Given the description of an element on the screen output the (x, y) to click on. 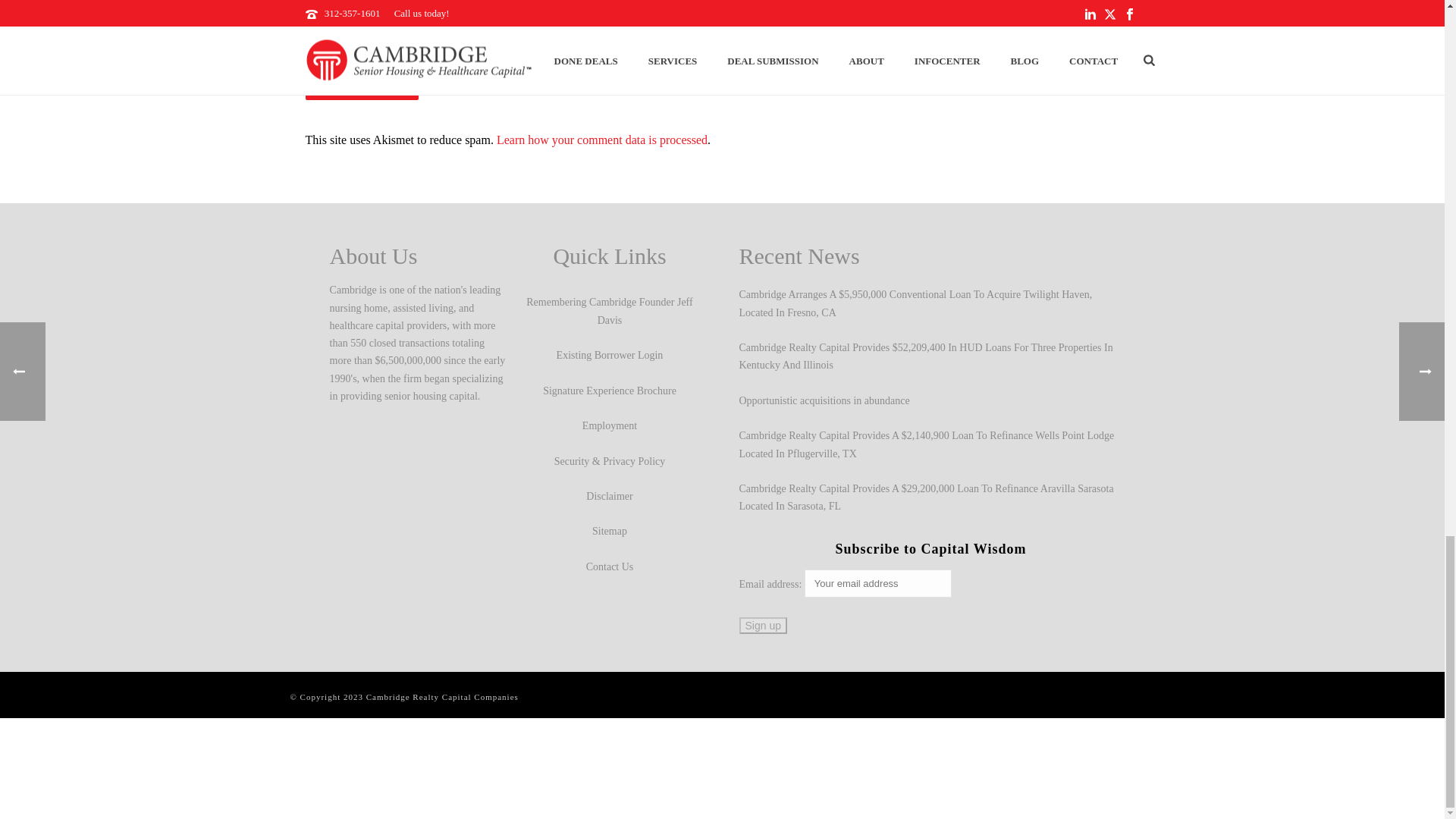
yes (309, 44)
Sign up (762, 625)
POST COMMENT (361, 85)
